Given the description of an element on the screen output the (x, y) to click on. 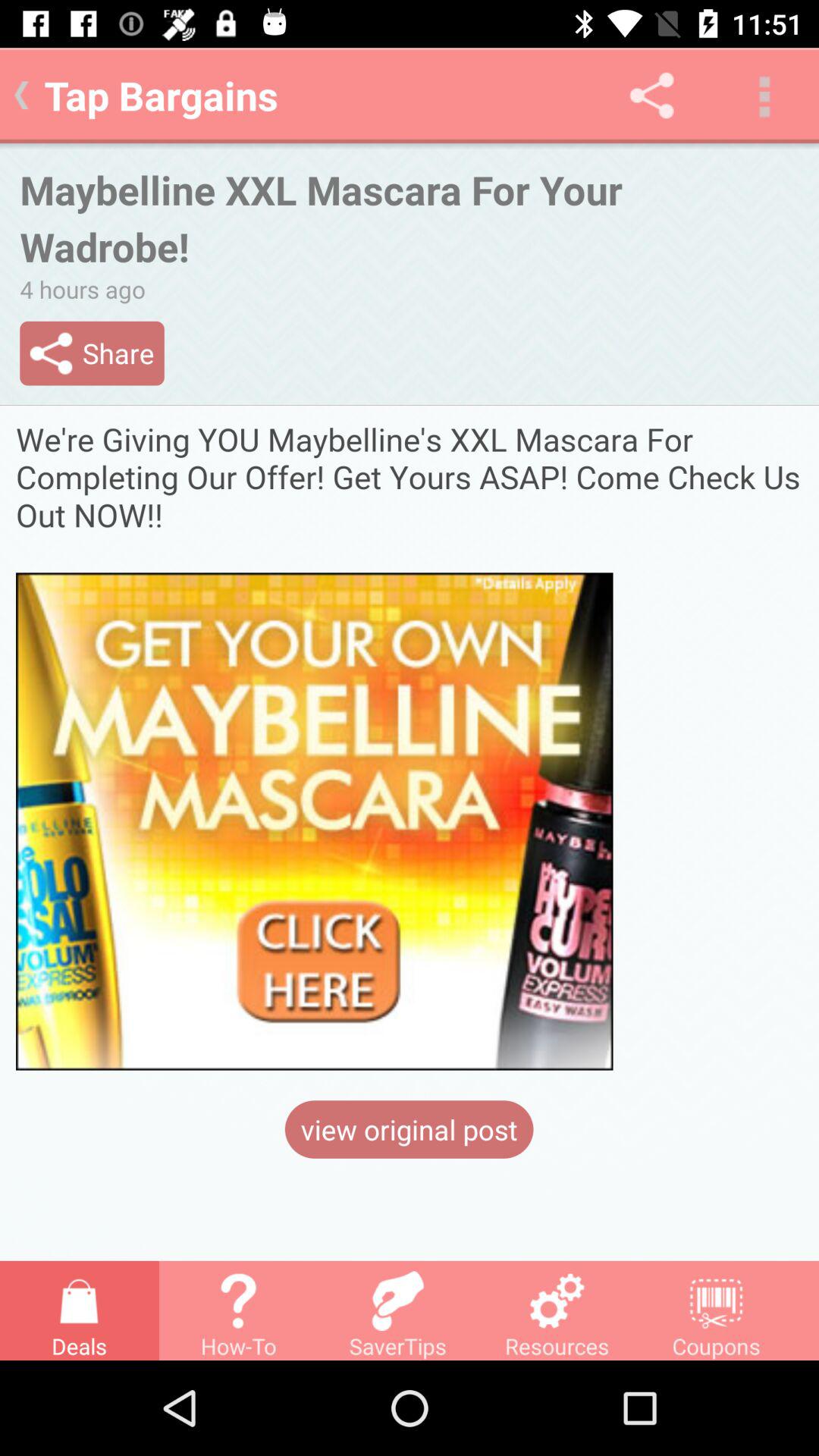
click here bargain (409, 745)
